Given the description of an element on the screen output the (x, y) to click on. 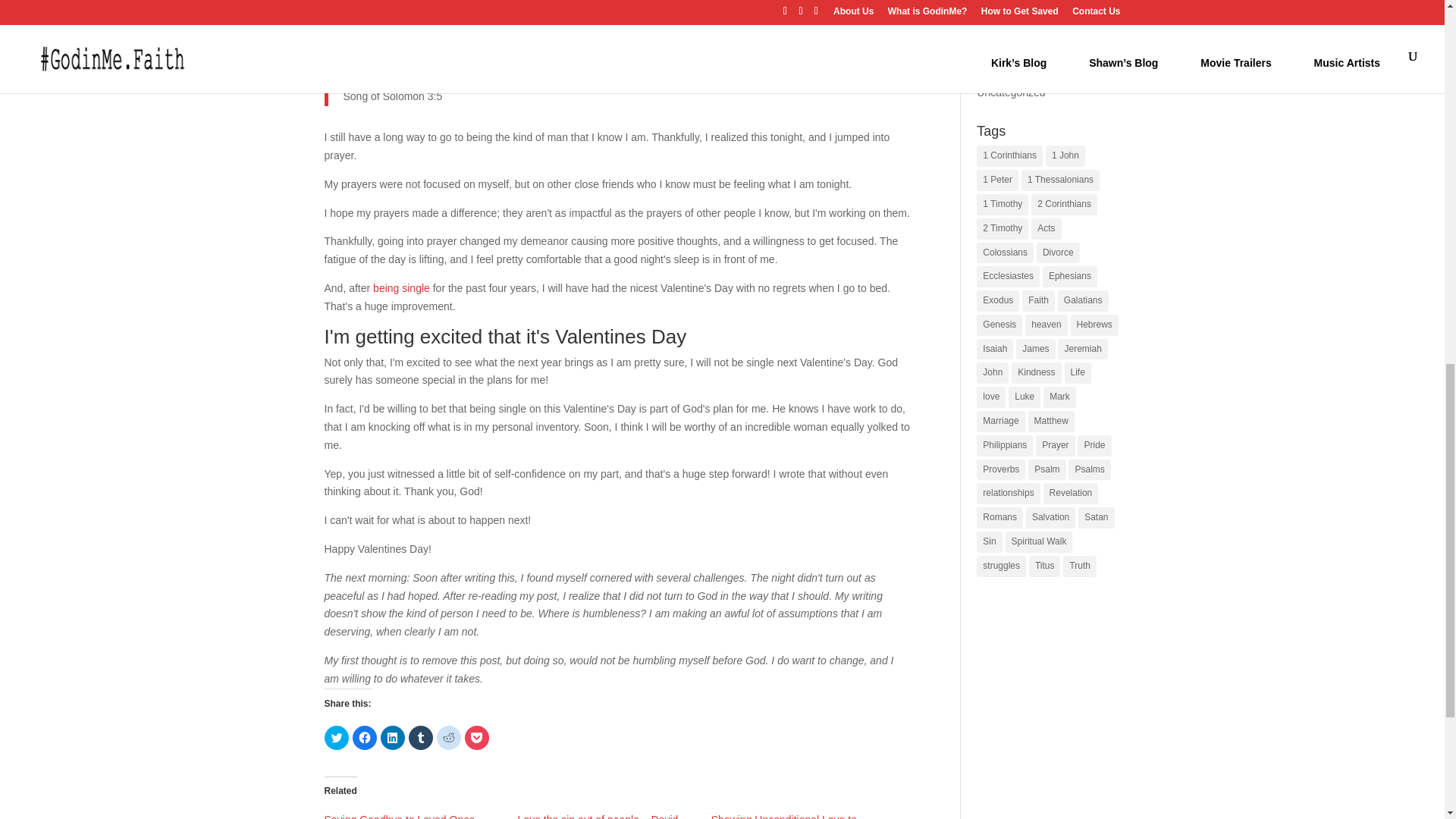
Click to share on LinkedIn (392, 737)
being single (400, 287)
Click to share on Tumblr (419, 737)
Showing Unconditional Love to Others (784, 816)
Click to share on Pocket (475, 737)
Click to share on Twitter (336, 737)
Saying Goodbye to Loved Ones (399, 816)
Click to share on Reddit (448, 737)
Showing Unconditional Love to Others (784, 816)
Click to share on Facebook (363, 737)
Saying Goodbye to Loved Ones (399, 816)
